Given the description of an element on the screen output the (x, y) to click on. 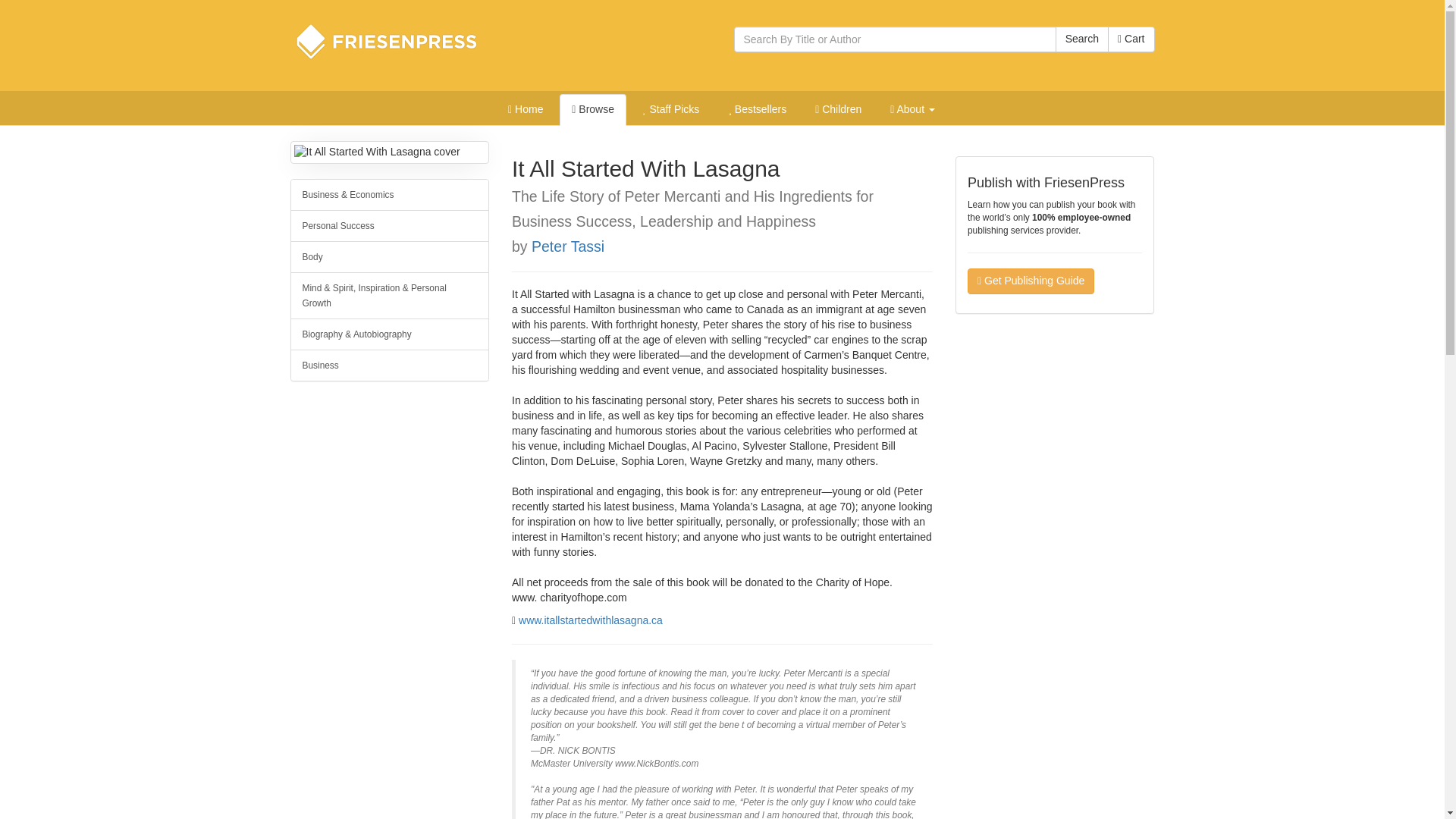
Body (390, 256)
Children (838, 110)
Business (390, 364)
Personal Success (390, 225)
Search for books by Peter Tassi (567, 246)
Business (390, 364)
Peter Tassi (567, 246)
Body (390, 256)
www.itallstartedwithlasagna.ca (590, 620)
Browse (592, 110)
